Given the description of an element on the screen output the (x, y) to click on. 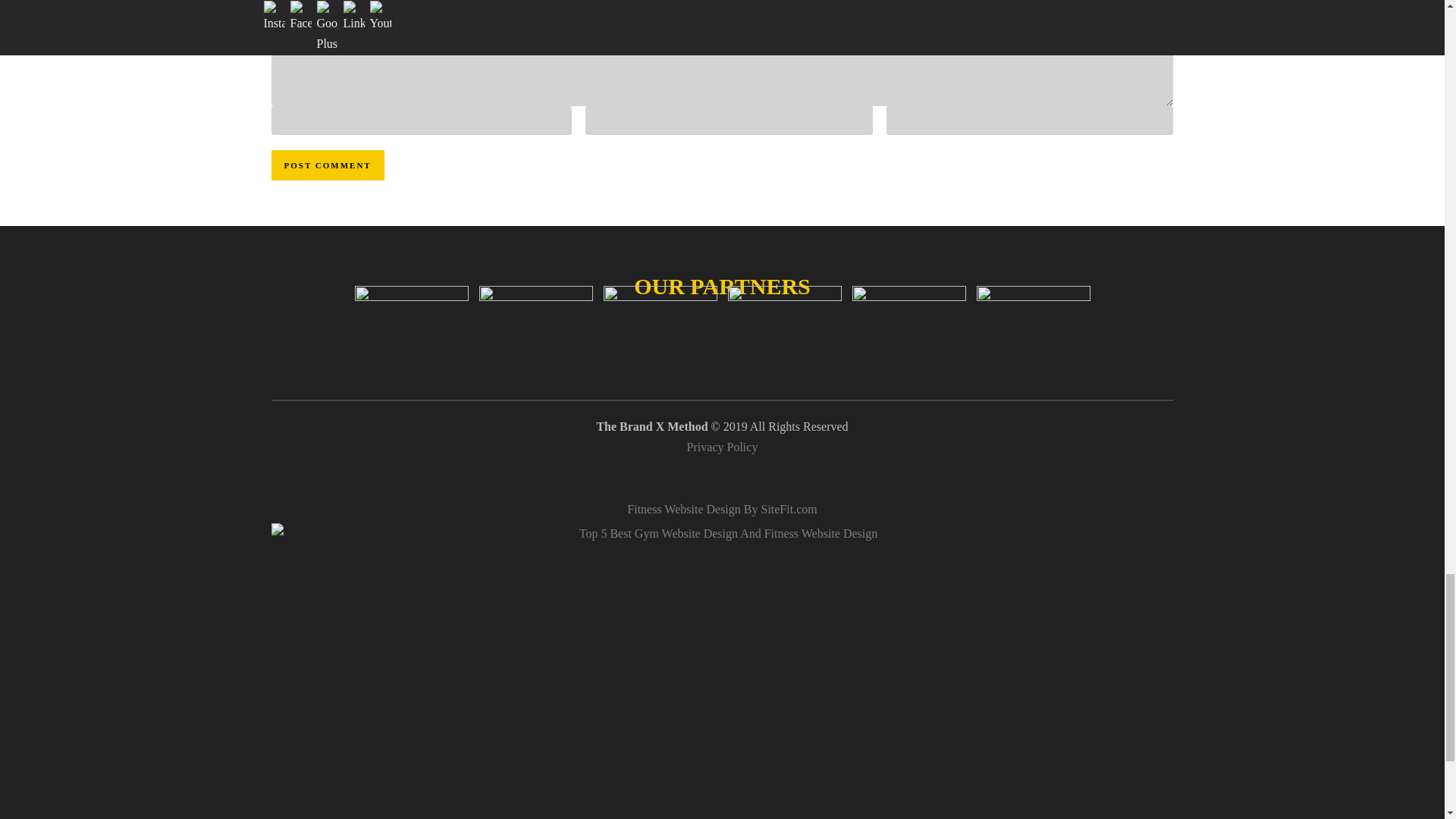
Fitness Website Design (721, 508)
Post Comment (327, 164)
